Given the description of an element on the screen output the (x, y) to click on. 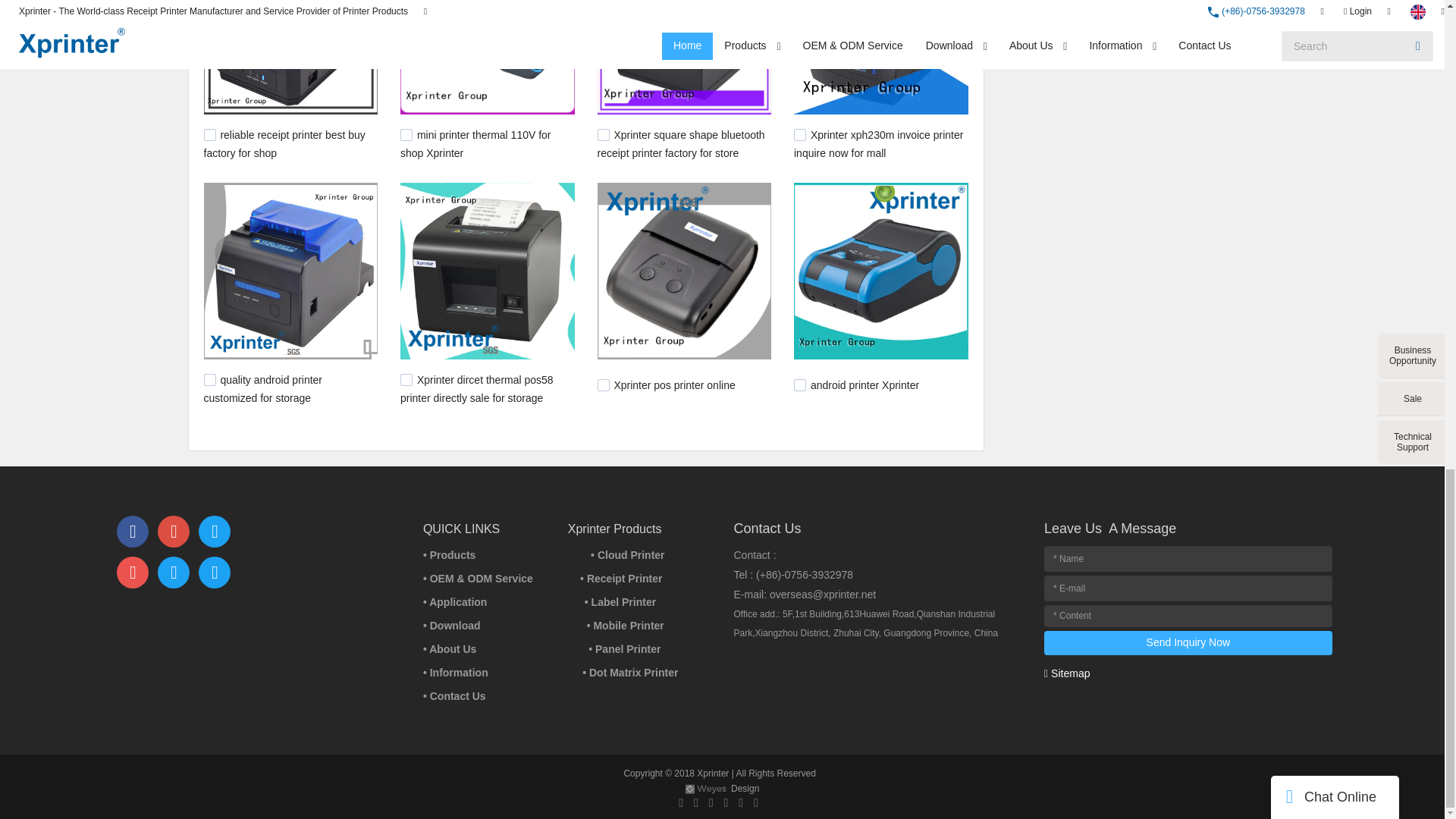
reliable receipt printer best buy factory for shop (284, 143)
930 (799, 385)
928 (603, 385)
1428 (209, 134)
1289 (209, 379)
quality android printer customized for storage (262, 388)
Xprinter pos printer online (673, 385)
1280 (406, 379)
1318 (603, 134)
1324 (406, 134)
1294 (799, 134)
android printer Xprinter (864, 385)
Xprinter xph230m invoice printer inquire now for mall (877, 143)
